Given the description of an element on the screen output the (x, y) to click on. 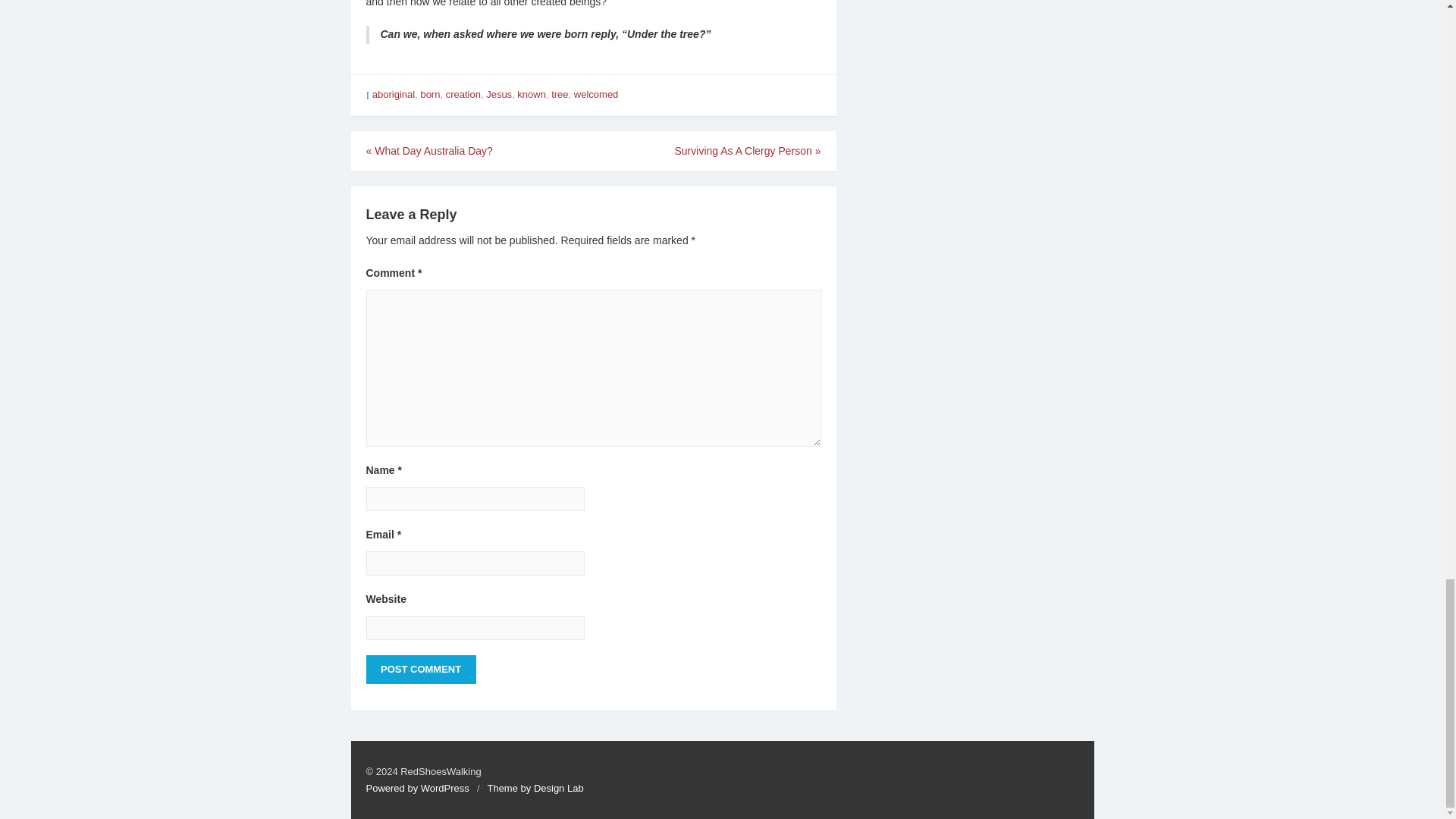
welcomed (595, 93)
creation (462, 93)
tree (559, 93)
Post Comment (420, 669)
aboriginal (393, 93)
Theme by Design Lab (534, 787)
Jesus (499, 93)
Powered by WordPress (416, 787)
Post Comment (420, 669)
born (429, 93)
known (531, 93)
